Given the description of an element on the screen output the (x, y) to click on. 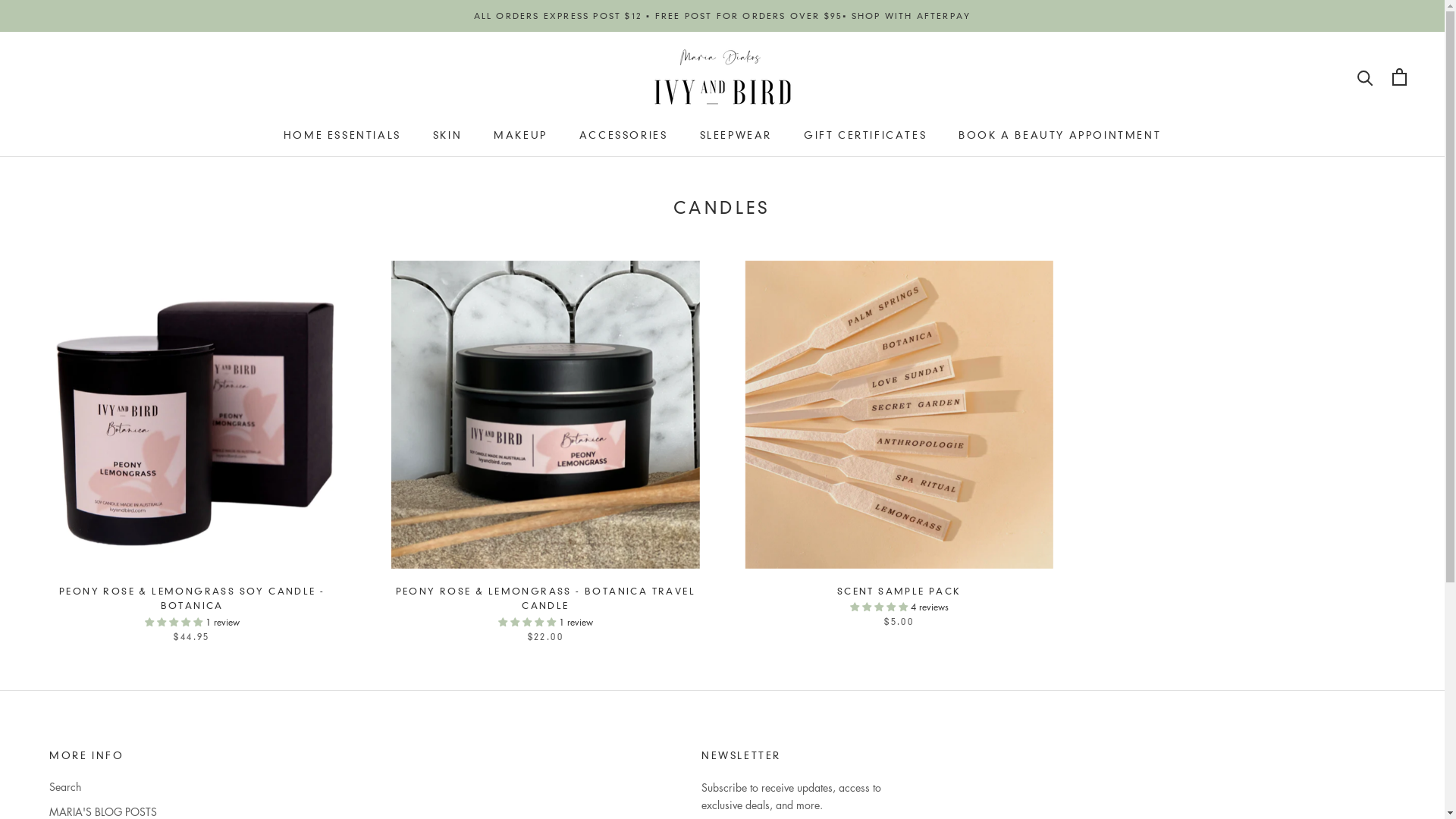
MAKEUP
MAKEUP Element type: text (520, 134)
PEONY ROSE & LEMONGRASS SOY CANDLE - BOTANICA Element type: text (191, 598)
Search Element type: text (124, 786)
BOOK A BEAUTY APPOINTMENT
BOOK A BEAUTY APPOINTMENT Element type: text (1059, 134)
SLEEPWEAR Element type: text (735, 134)
HOME ESSENTIALS Element type: text (342, 134)
PEONY ROSE & LEMONGRASS - BOTANICA TRAVEL CANDLE Element type: text (545, 598)
ACCESSORIES
ACCESSORIES Element type: text (623, 134)
GIFT CERTIFICATES
GIFT CERTIFICATES Element type: text (864, 134)
SKIN Element type: text (447, 134)
SCENT SAMPLE PACK Element type: text (899, 590)
